Given the description of an element on the screen output the (x, y) to click on. 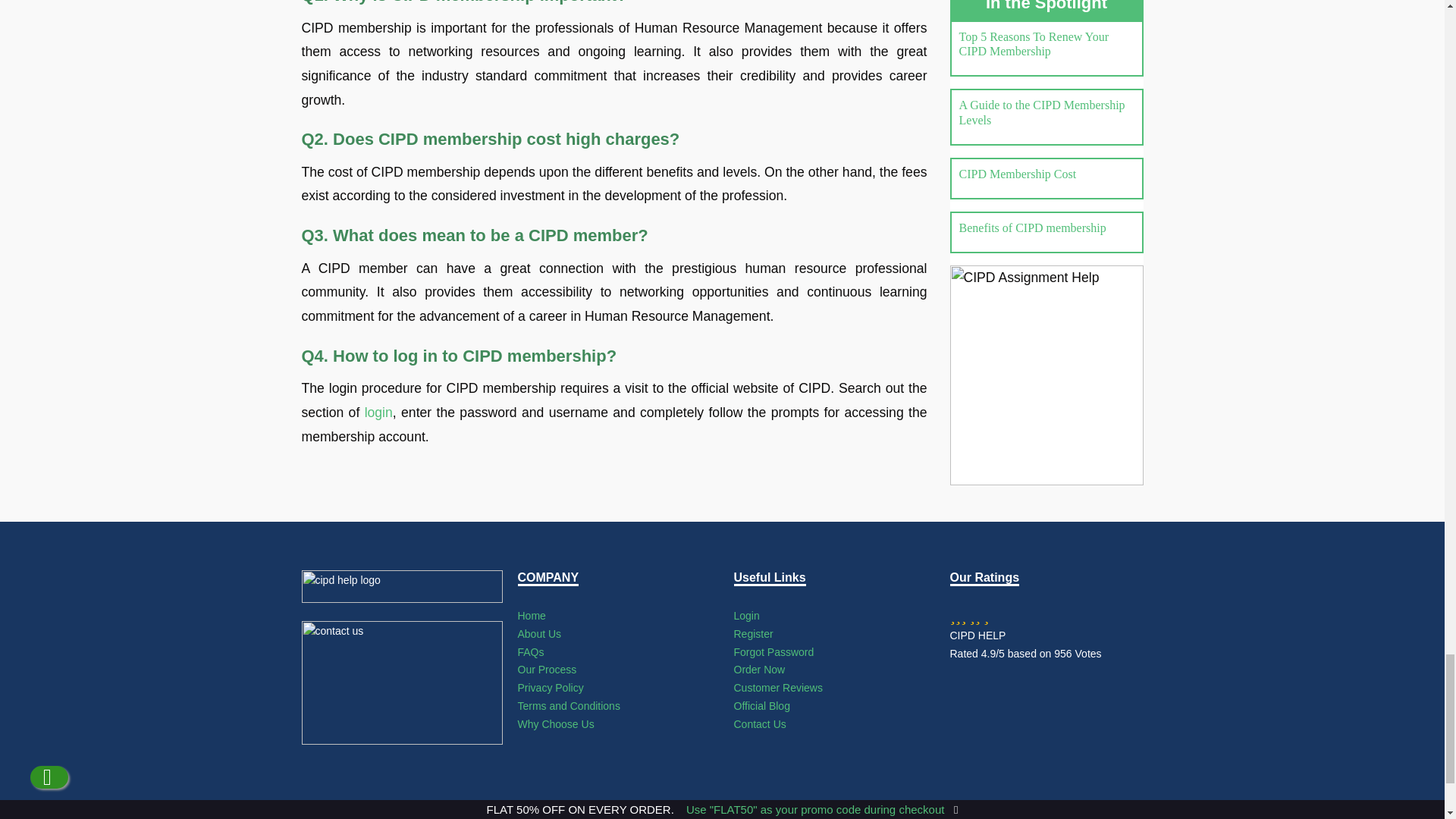
login (379, 412)
Login (746, 615)
Our Process (546, 669)
Privacy Policy (549, 687)
Why Choose Us (555, 724)
Terms and Conditions (568, 705)
Home (530, 615)
FAQs (529, 652)
Order Now (759, 669)
About Us (538, 633)
Forgot Password (773, 652)
Register (753, 633)
